Given the description of an element on the screen output the (x, y) to click on. 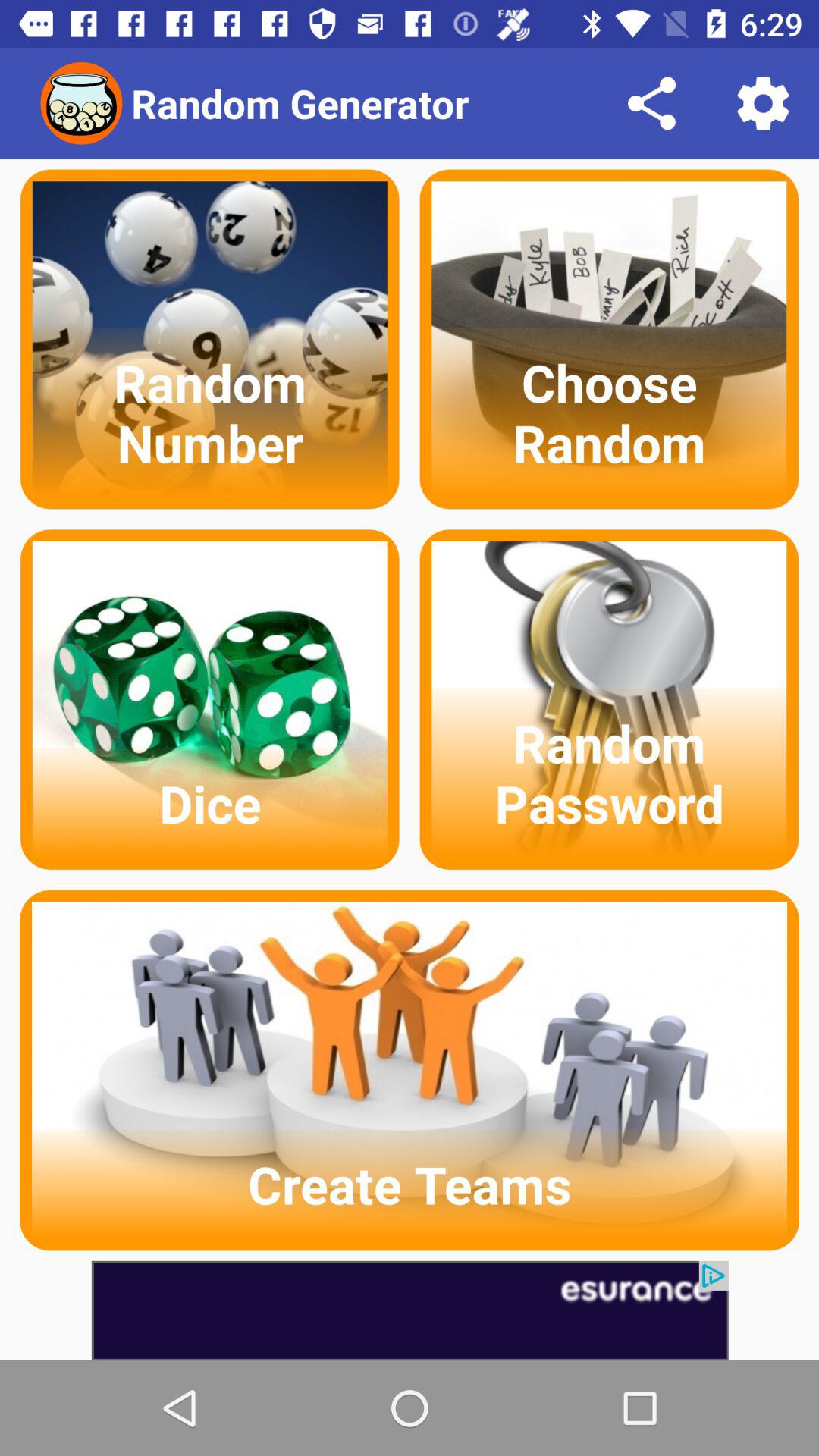
redirects you to esurance offer (409, 1310)
